Given the description of an element on the screen output the (x, y) to click on. 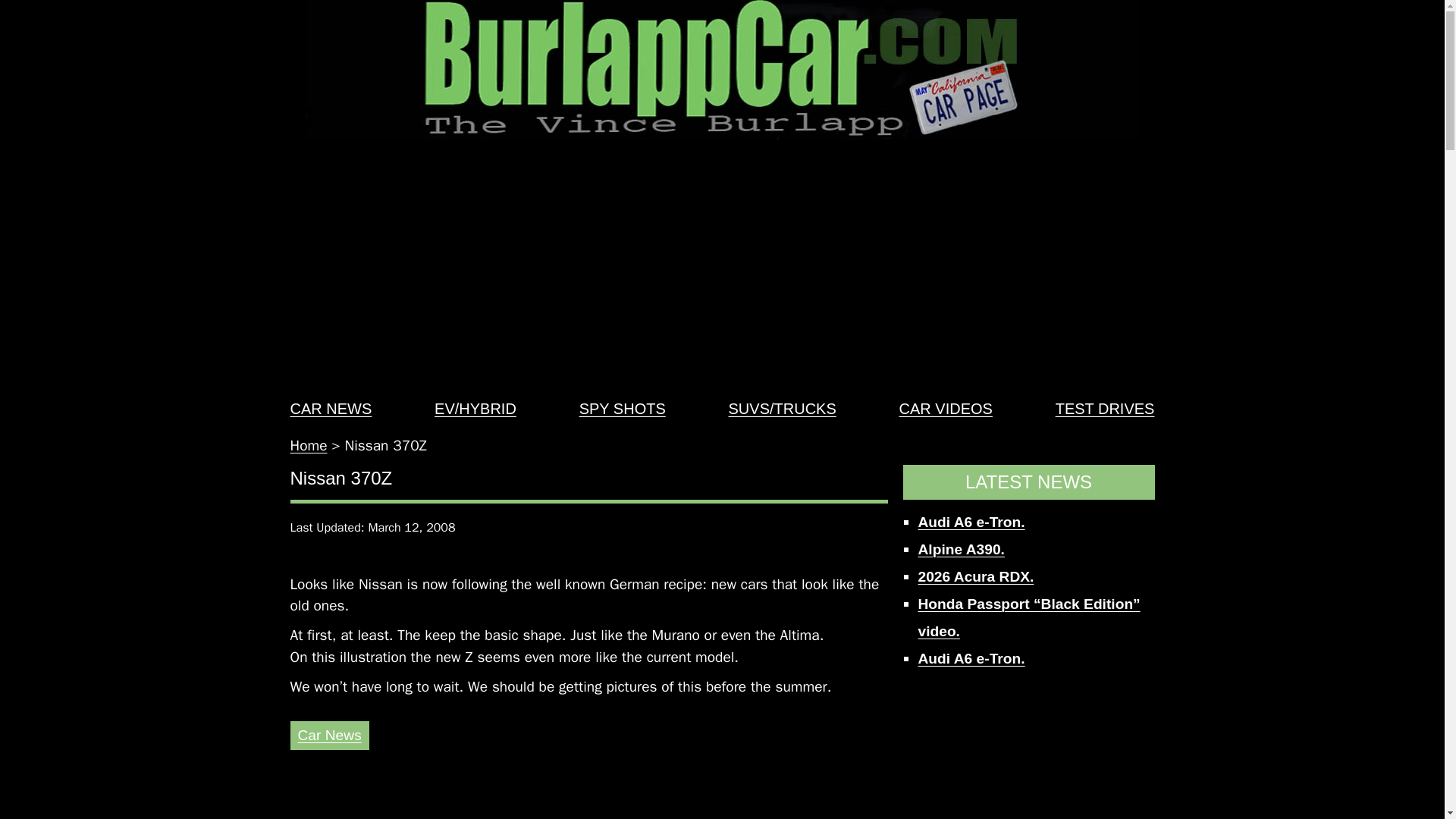
Audi A6 e-Tron. (971, 521)
Audi A6 e-Tron. (971, 521)
TEST DRIVES (1104, 408)
Home (307, 445)
Advertisement (1028, 752)
Car News (329, 734)
Audi A6 e-Tron. (971, 658)
Alpine A390. (960, 549)
CAR VIDEOS (945, 408)
Alpine A390. (960, 549)
Advertisement (587, 803)
SPY SHOTS (622, 408)
Audi A6 e-Tron. (971, 658)
2026 Acura RDX. (975, 576)
